Given the description of an element on the screen output the (x, y) to click on. 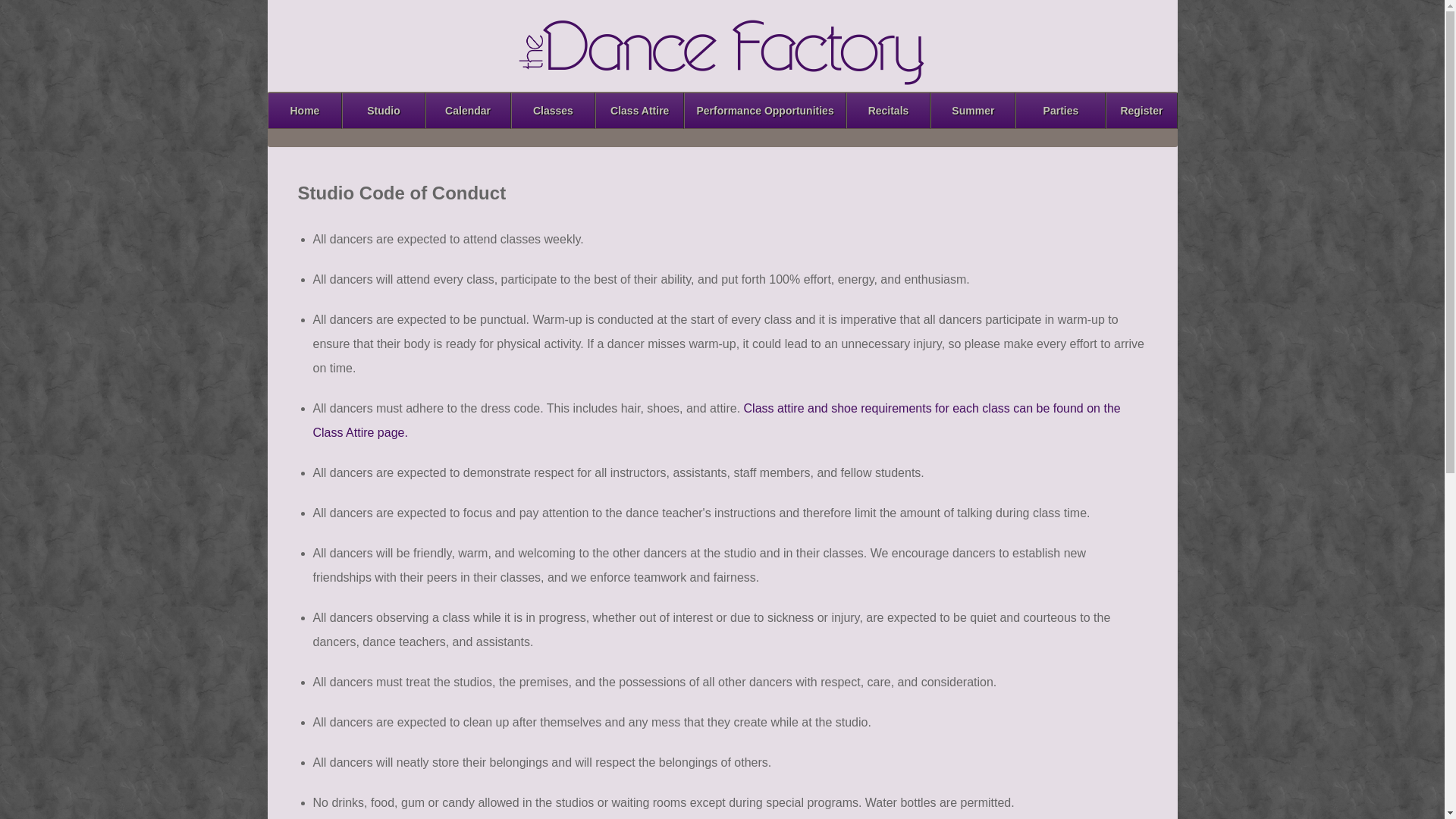
Calendar (468, 110)
Register (1140, 110)
Recitals (888, 110)
Studio (383, 110)
Summer (972, 110)
Classes (553, 110)
Home (304, 110)
Parties (1059, 110)
Performance Opportunities (764, 110)
Class Attire (639, 110)
